Given the description of an element on the screen output the (x, y) to click on. 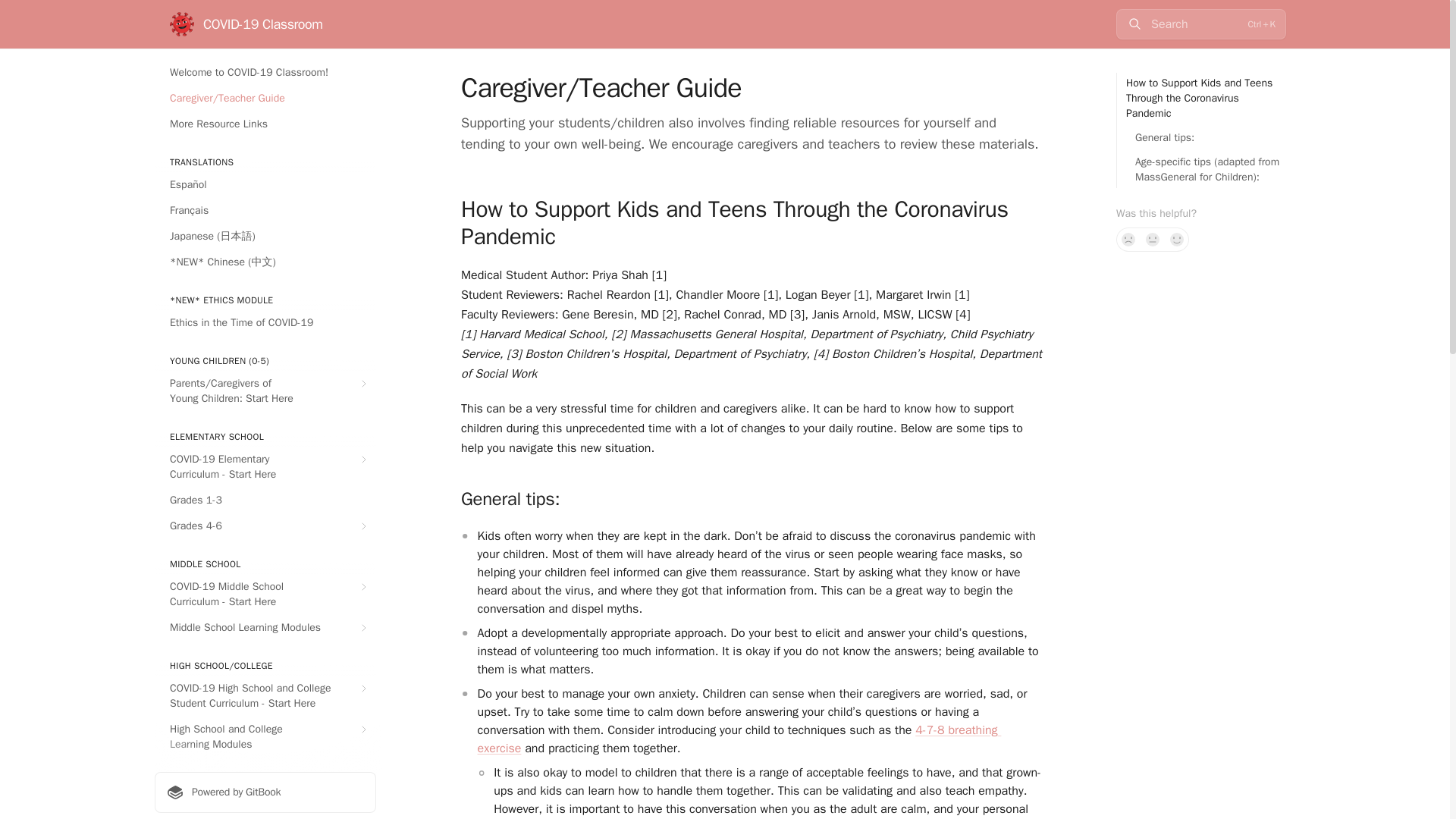
Not sure (1152, 239)
Middle School Learning Modules (264, 627)
High School and College Learning Modules (264, 736)
Yes, it was! (1176, 239)
COVID-19 Middle School Curriculum - Start Here (264, 594)
COVID-19 Elementary Curriculum - Start Here (264, 466)
Ethics in the Time of COVID-19 (264, 322)
No (1128, 239)
Grades 1-3 (264, 500)
More Resource Links (264, 124)
COVID-19 Classroom (246, 24)
Grades 4-6 (264, 526)
Welcome to COVID-19 Classroom! (264, 72)
